Given the description of an element on the screen output the (x, y) to click on. 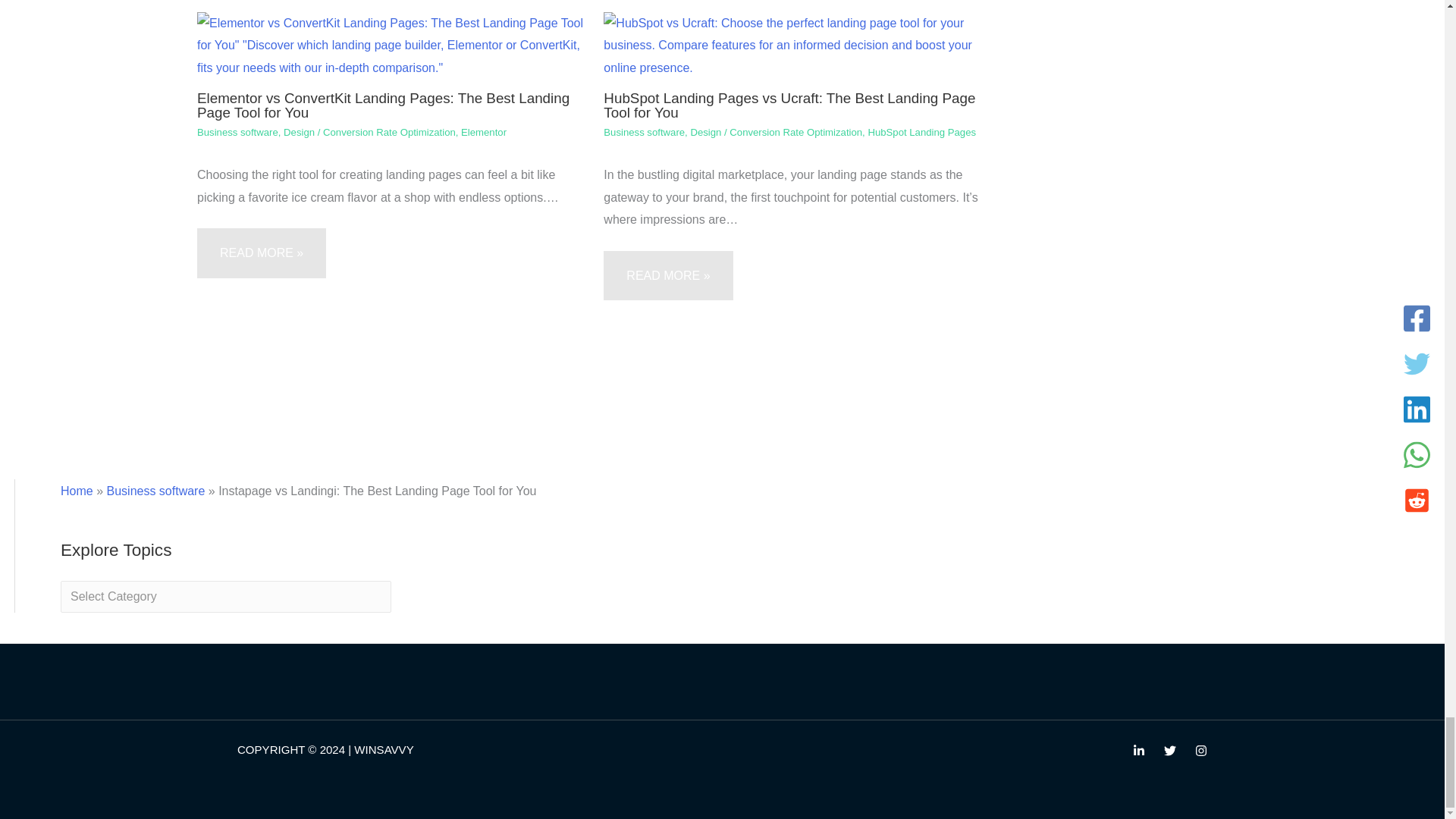
Home (77, 490)
Business software (155, 490)
